Given the description of an element on the screen output the (x, y) to click on. 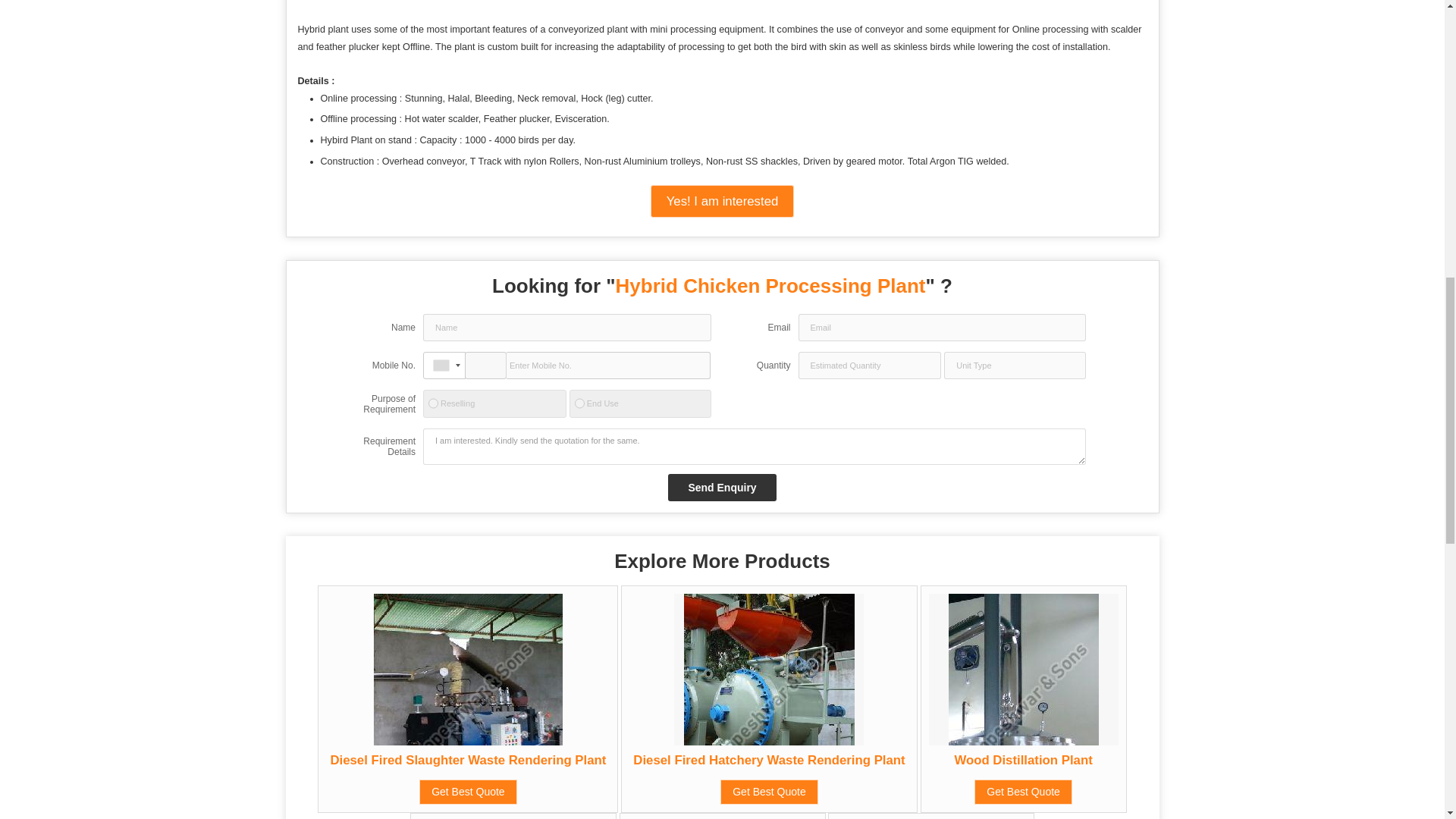
Send Enquiry (722, 487)
